Given the description of an element on the screen output the (x, y) to click on. 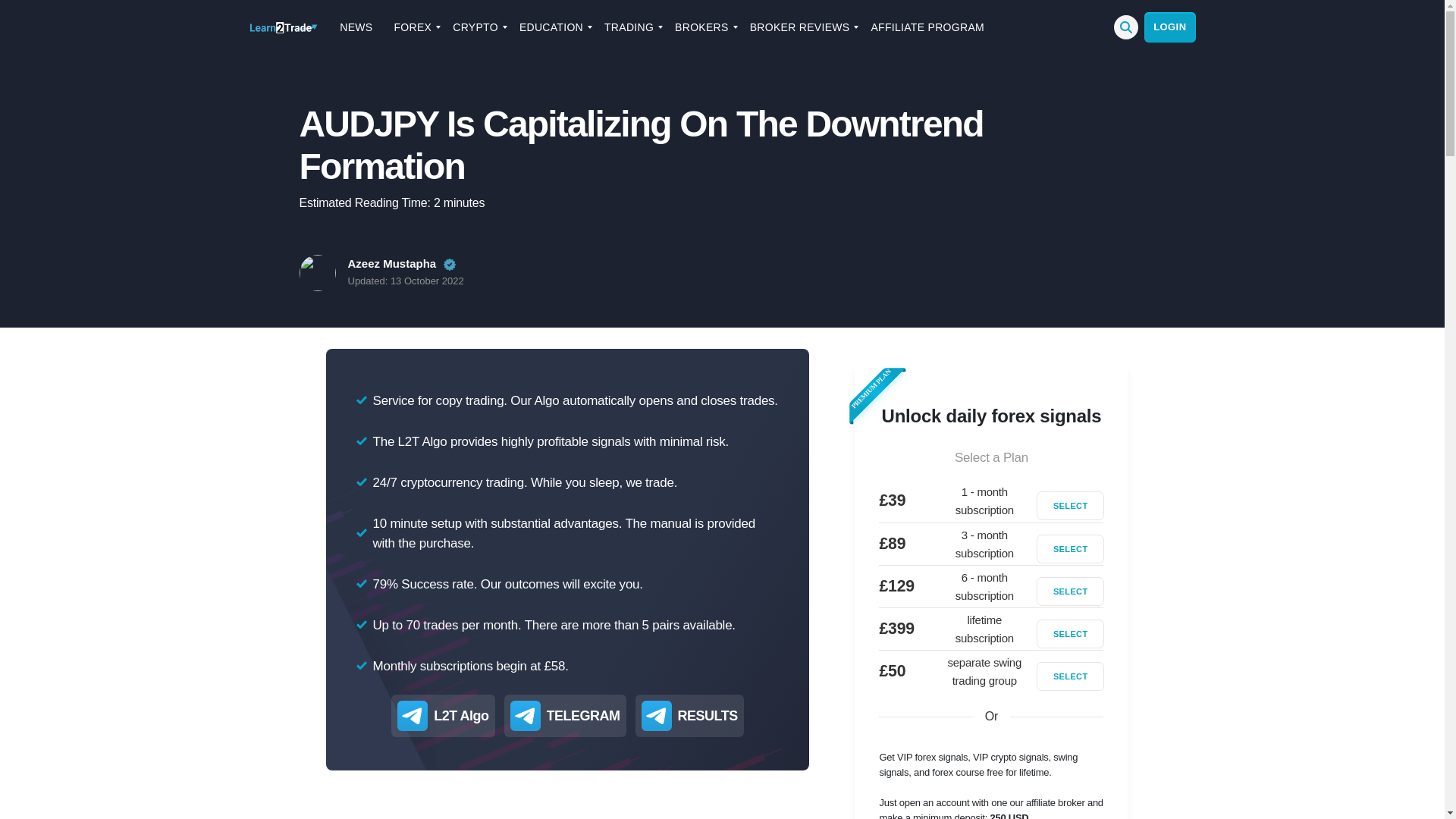
TELEGRAM (583, 715)
CRYPTO (475, 27)
NEWS (355, 27)
Home (282, 27)
FOREX (413, 27)
RESULTS (708, 715)
L2T Algo (460, 715)
